Given the description of an element on the screen output the (x, y) to click on. 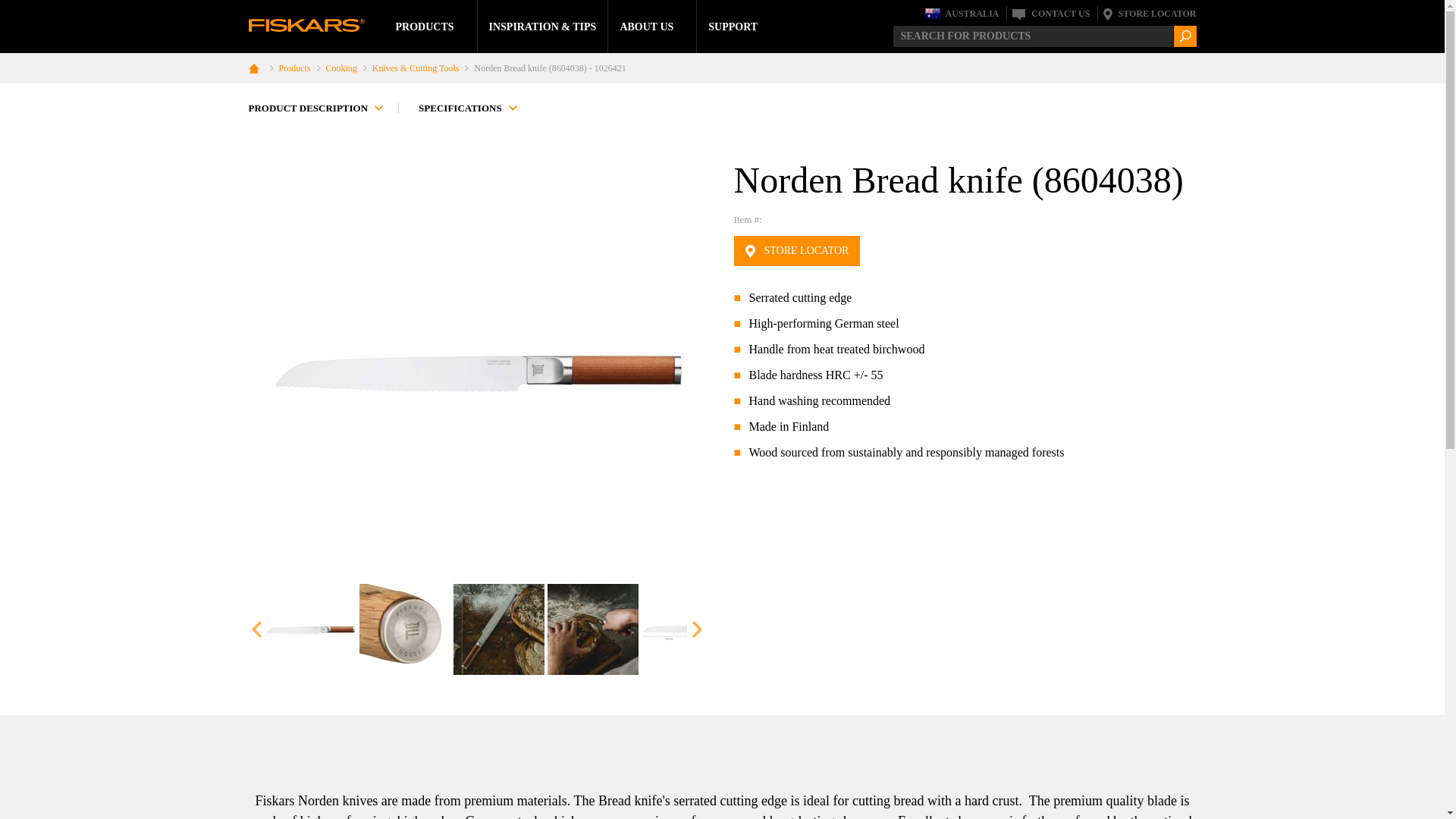
Store Locator (1147, 13)
PRODUCTS (425, 25)
Store Locator (796, 250)
Contact us (1049, 13)
Choose country (961, 13)
